Given the description of an element on the screen output the (x, y) to click on. 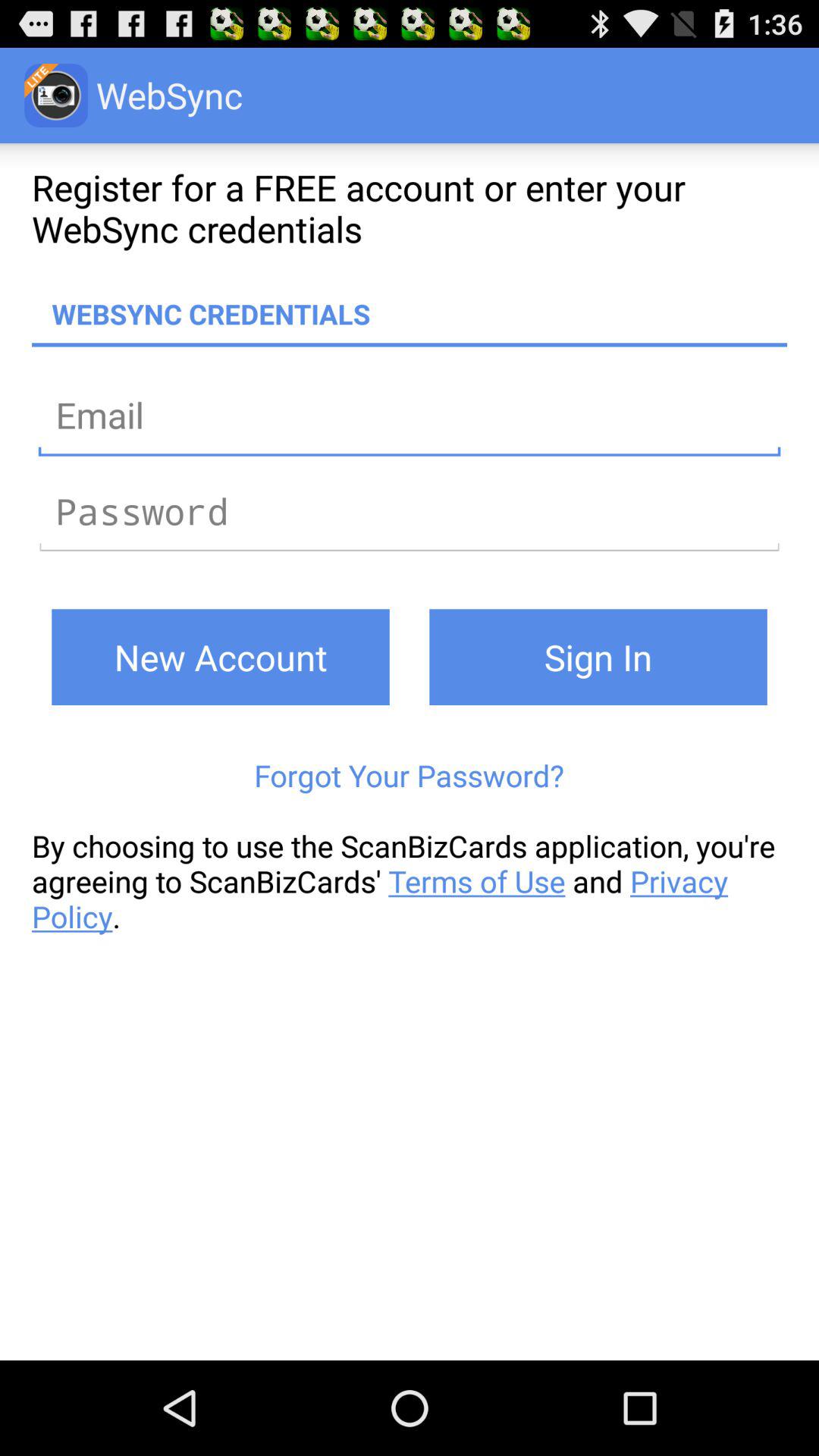
tap the icon next to new account icon (598, 657)
